Given the description of an element on the screen output the (x, y) to click on. 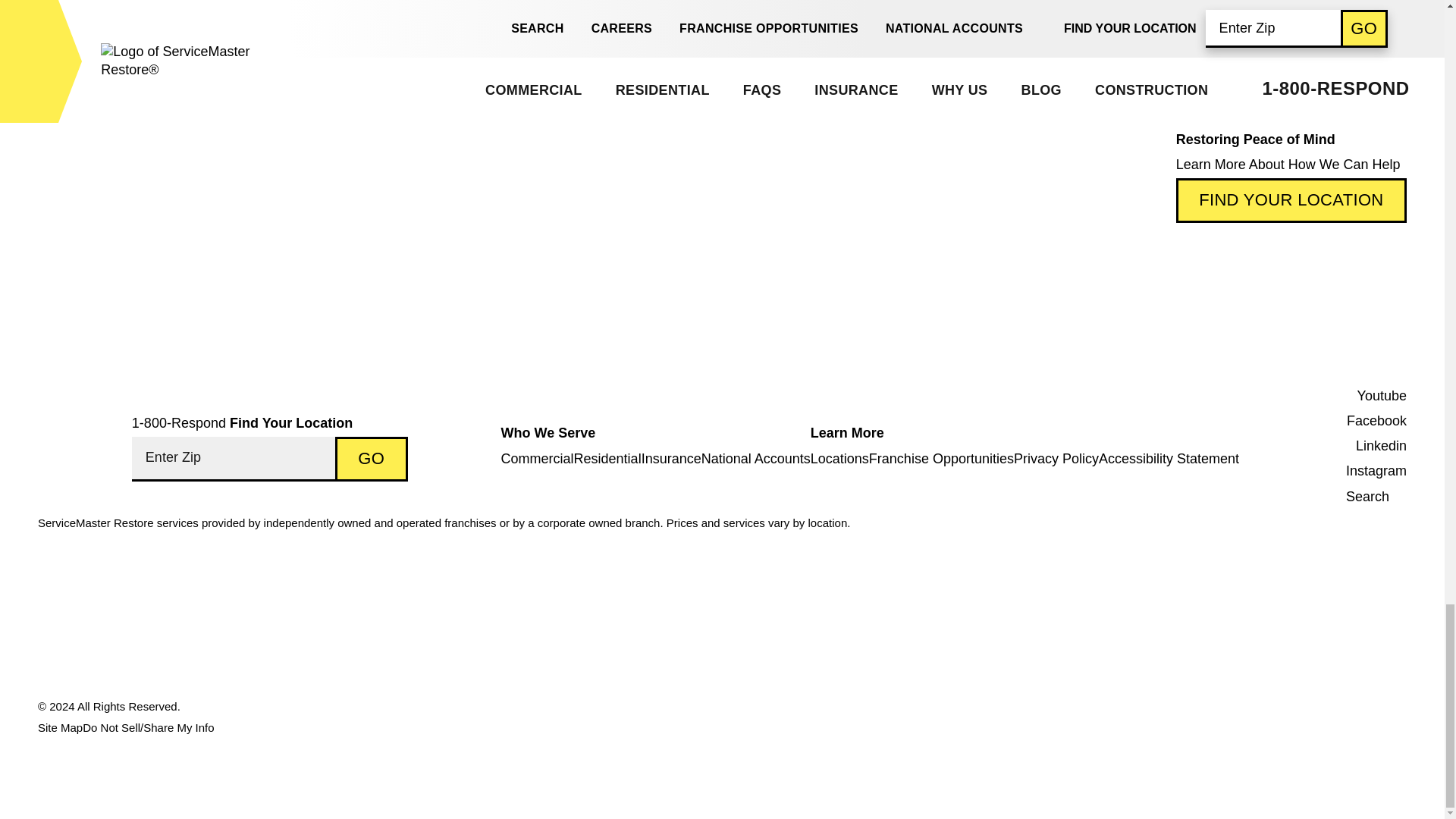
Linkedin (1369, 446)
Instagram (1369, 471)
Youtube (1369, 396)
Facebook (1369, 421)
